Given the description of an element on the screen output the (x, y) to click on. 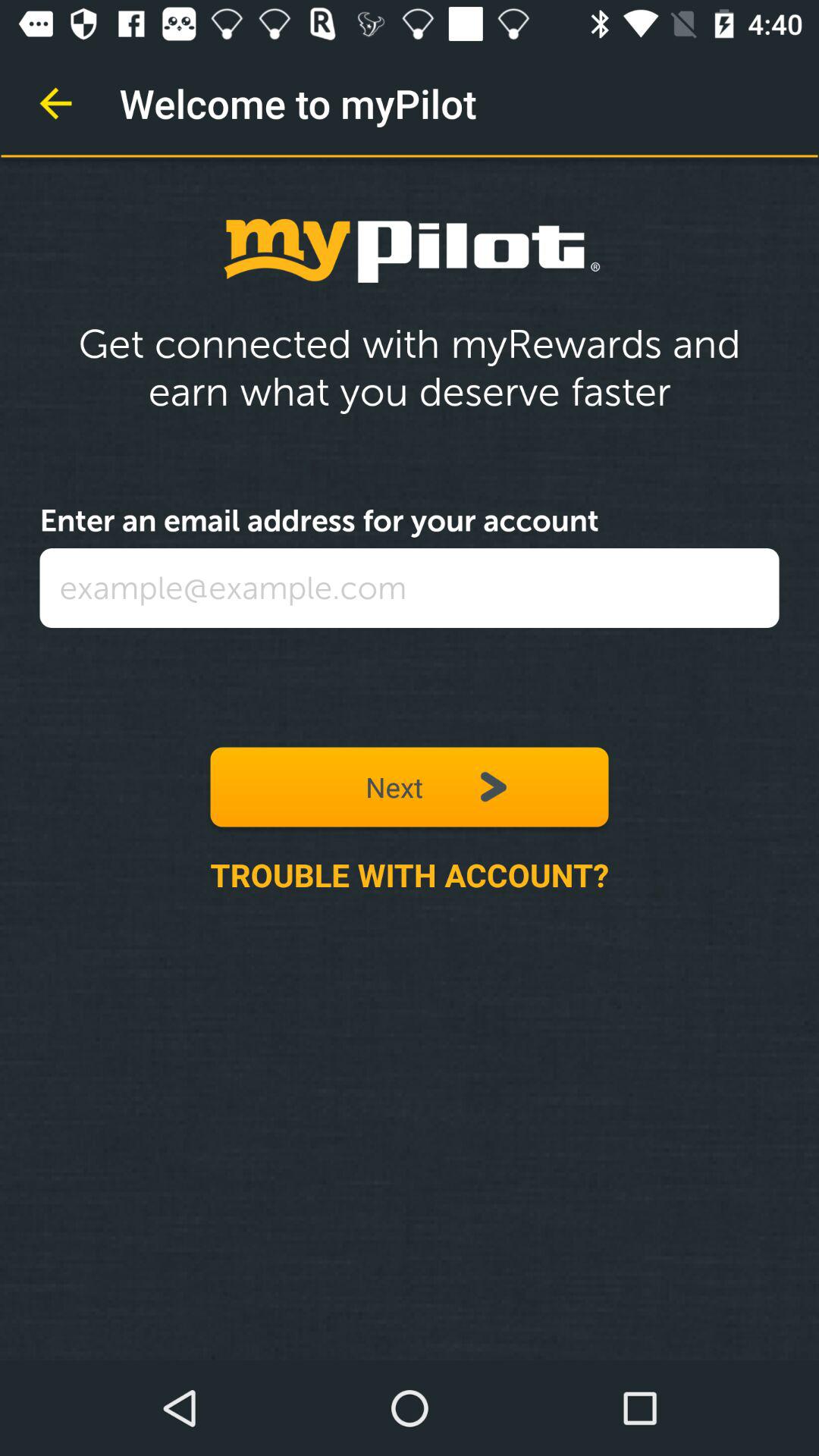
turn off the item below enter an email icon (409, 587)
